Given the description of an element on the screen output the (x, y) to click on. 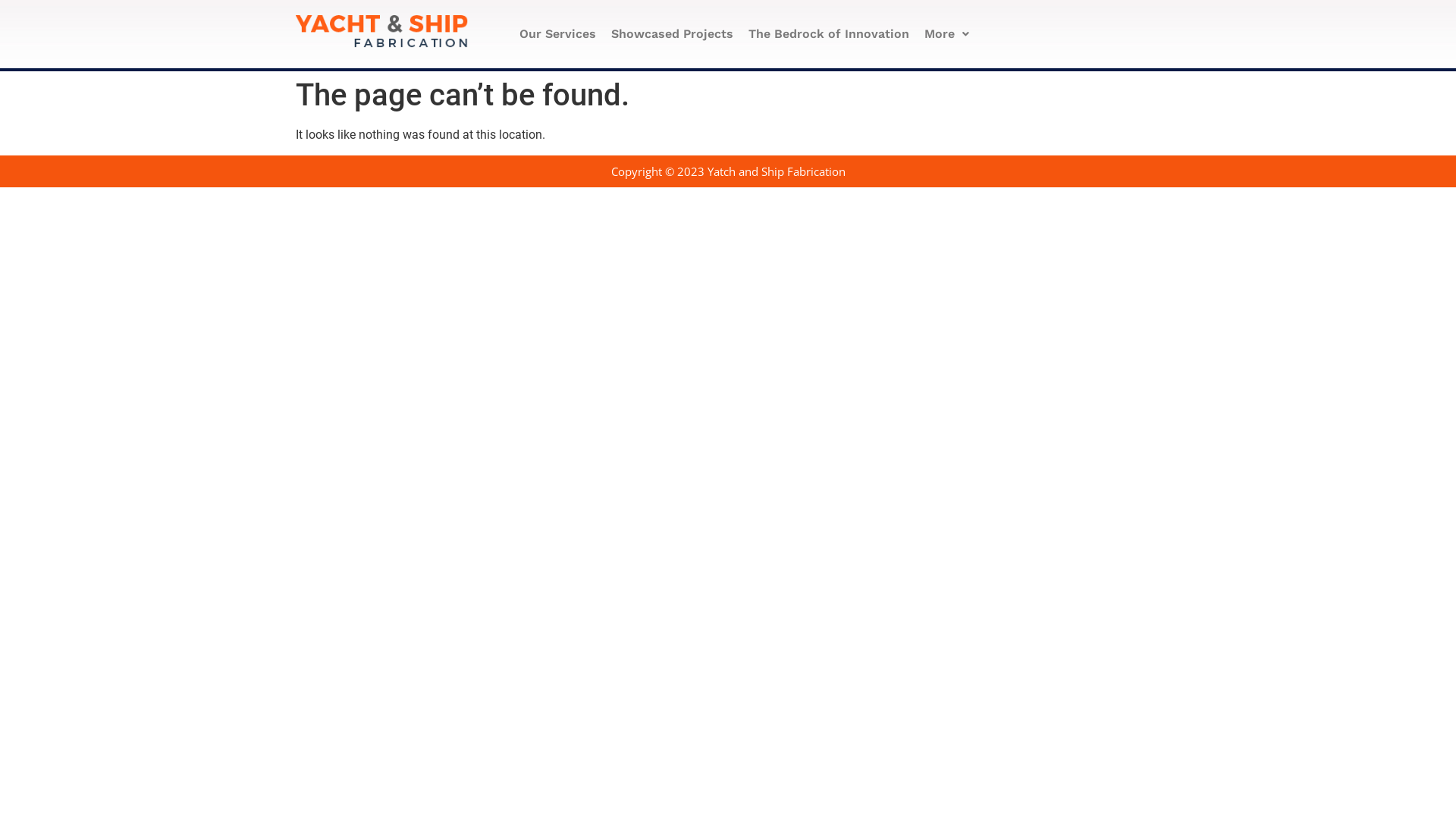
More Element type: text (946, 34)
Showcased Projects Element type: text (671, 34)
The Bedrock of Innovation Element type: text (828, 34)
Our Services Element type: text (557, 34)
